Given the description of an element on the screen output the (x, y) to click on. 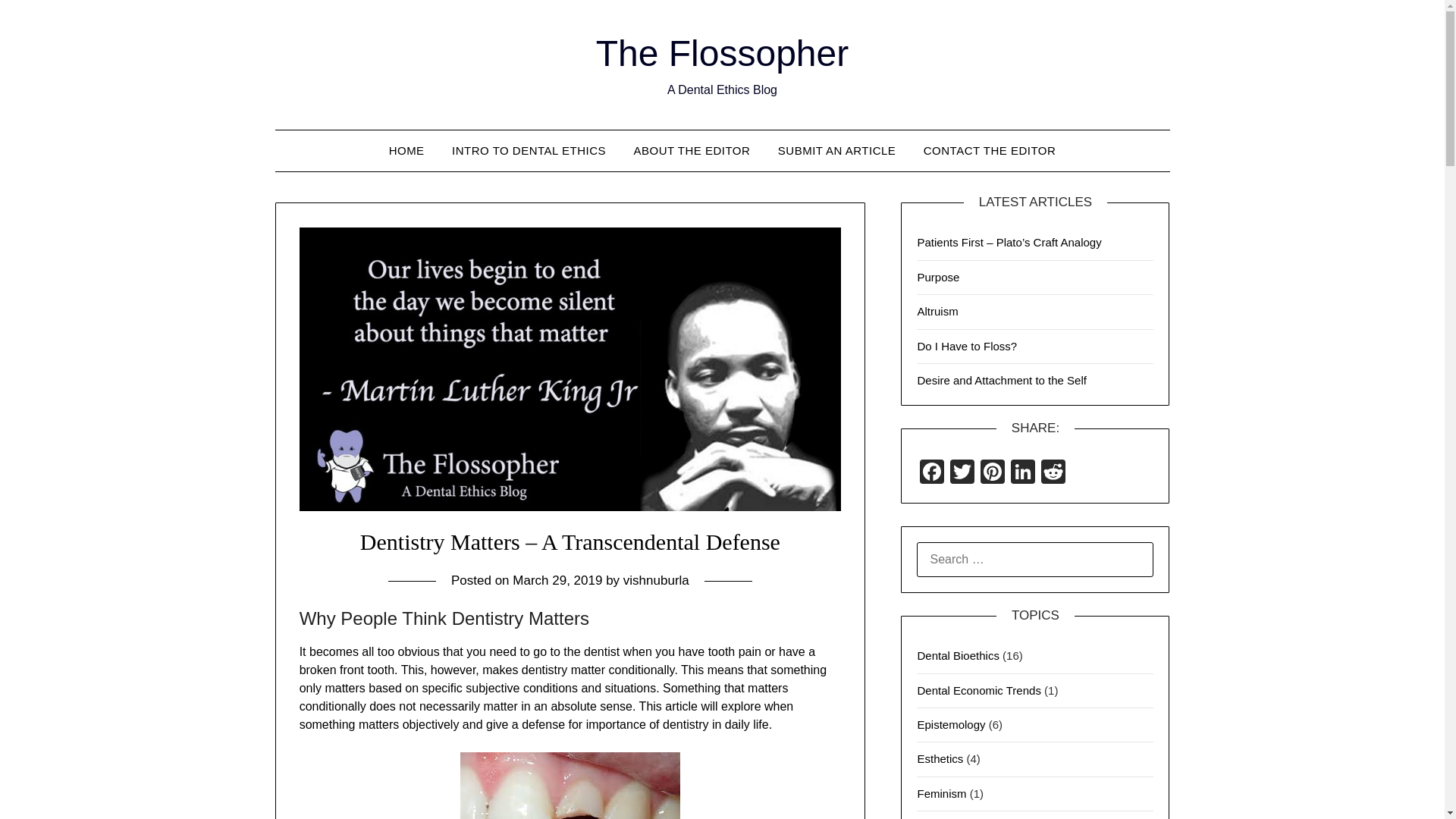
ABOUT THE EDITOR (691, 150)
vishnuburla (655, 580)
Reddit (1053, 473)
INTRO TO DENTAL ETHICS (528, 150)
Reddit (1053, 473)
Facebook (932, 473)
Desire and Attachment to the Self (1001, 379)
LinkedIn (1022, 473)
SUBMIT AN ARTICLE (836, 150)
Twitter (961, 473)
CONTACT THE EDITOR (989, 150)
Epistemology (951, 724)
LinkedIn (1022, 473)
Pinterest (991, 473)
